Given the description of an element on the screen output the (x, y) to click on. 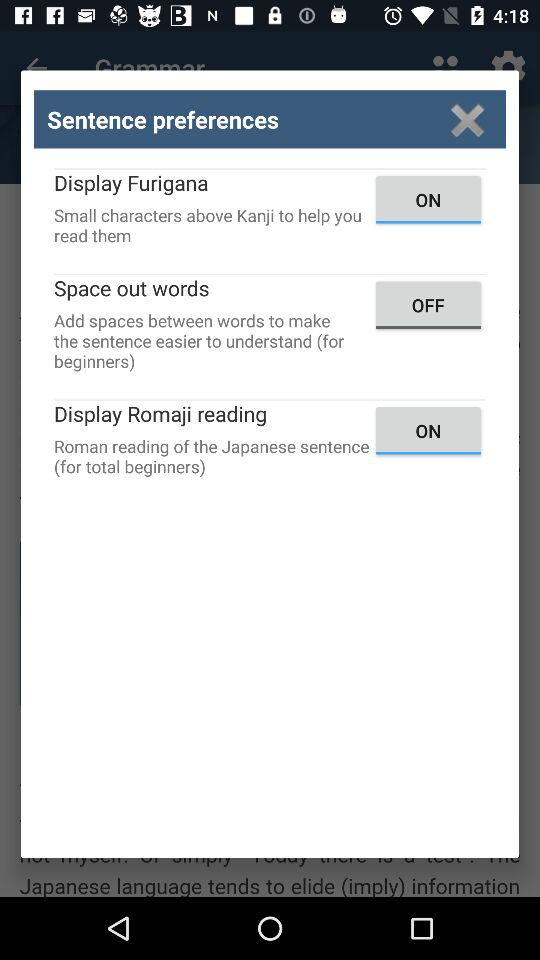
choose item to the right of space out words (427, 304)
